Given the description of an element on the screen output the (x, y) to click on. 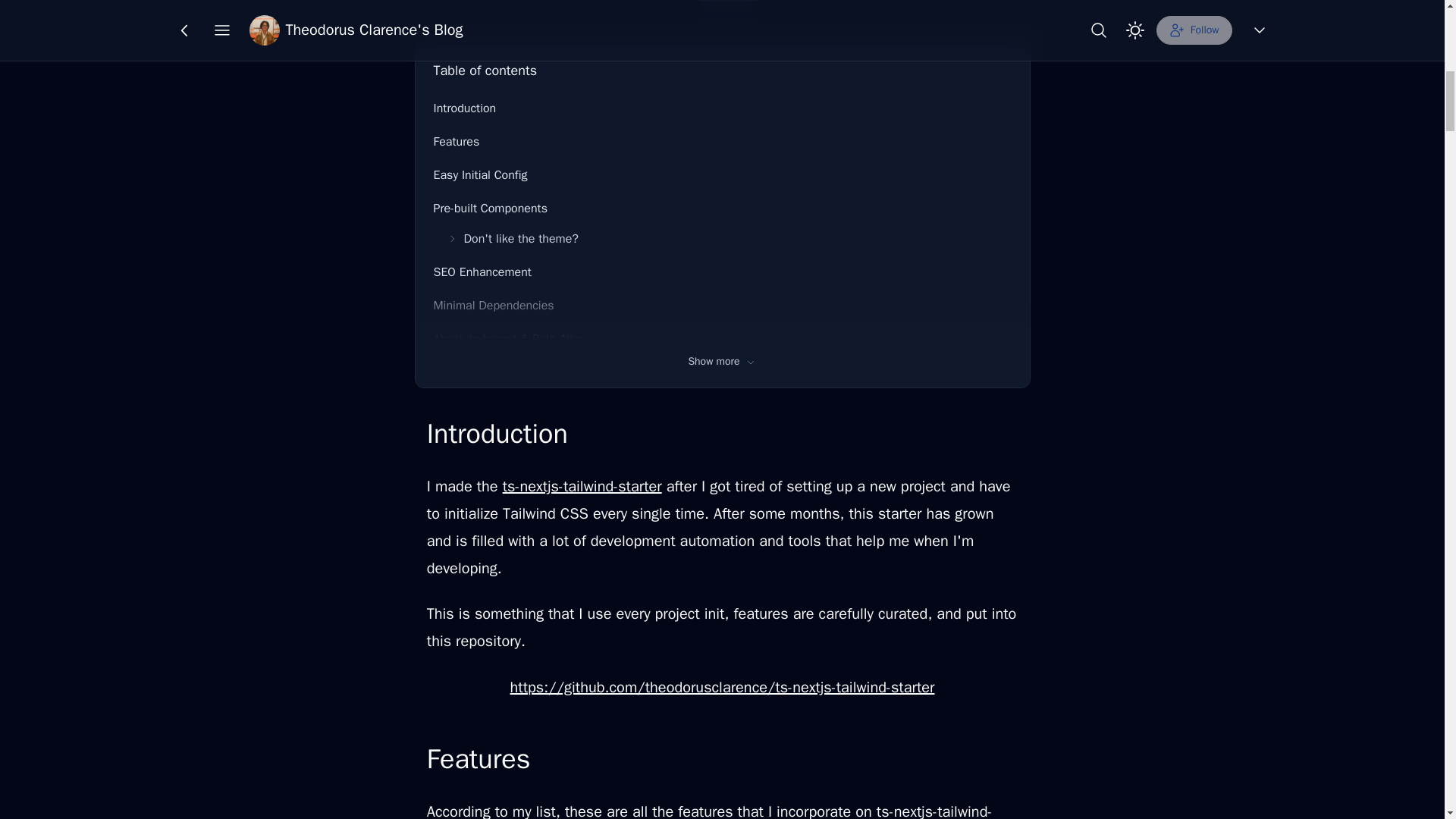
Features (722, 141)
Introduction (722, 108)
Don't like the theme? (728, 238)
Easy Initial Config (722, 174)
Pre-built Components (722, 208)
Minimal Dependencies (722, 305)
SEO Enhancement (722, 272)
